Given the description of an element on the screen output the (x, y) to click on. 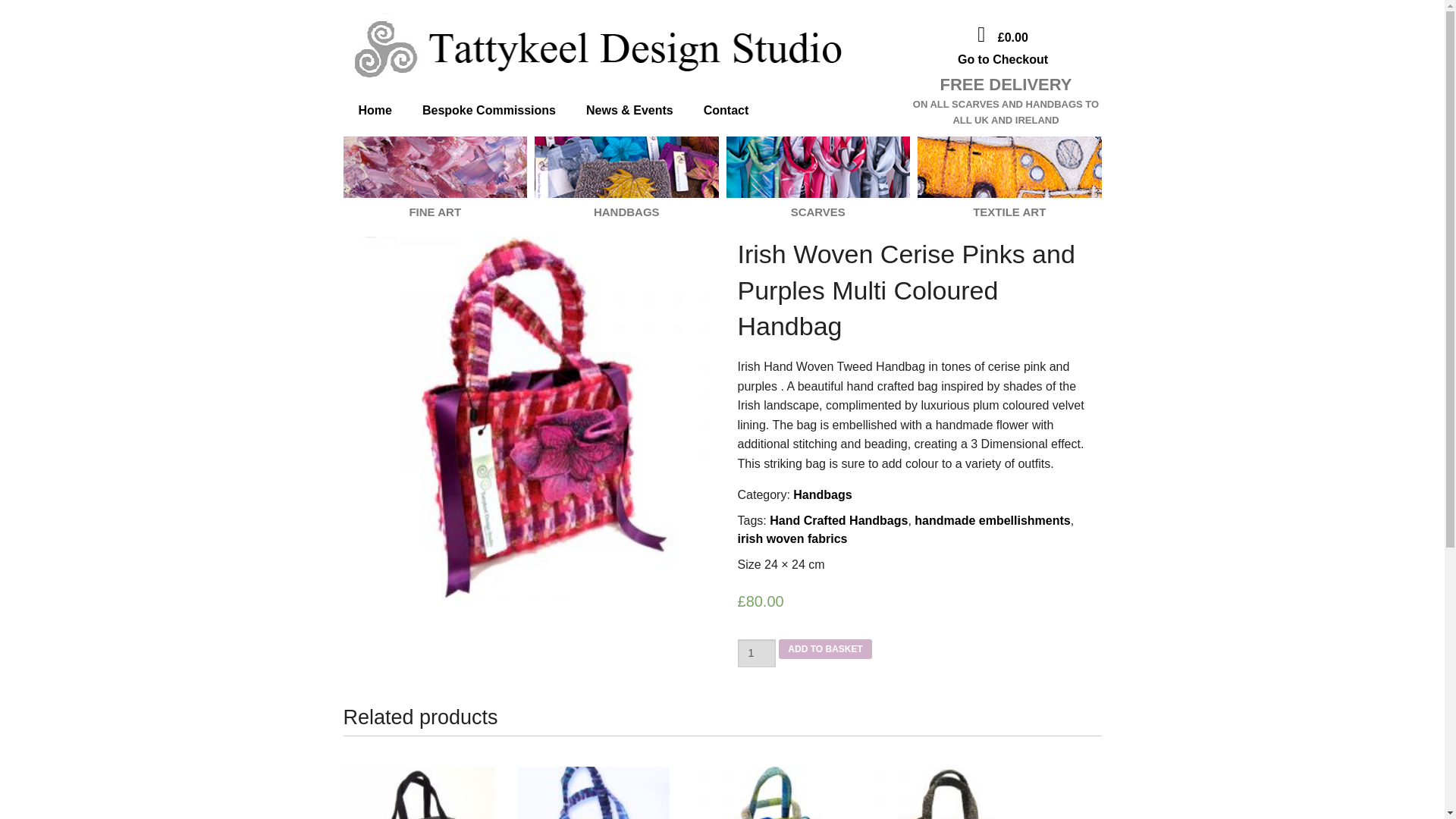
Contact (726, 110)
SCARVES (818, 203)
Qty (756, 653)
Bespoke Commissions (488, 110)
1 (756, 653)
Hand Crafted Handbags (838, 520)
View your shopping cart (1012, 37)
Home (374, 110)
irish woven fabrics (791, 538)
handmade embellishments (992, 520)
